Given the description of an element on the screen output the (x, y) to click on. 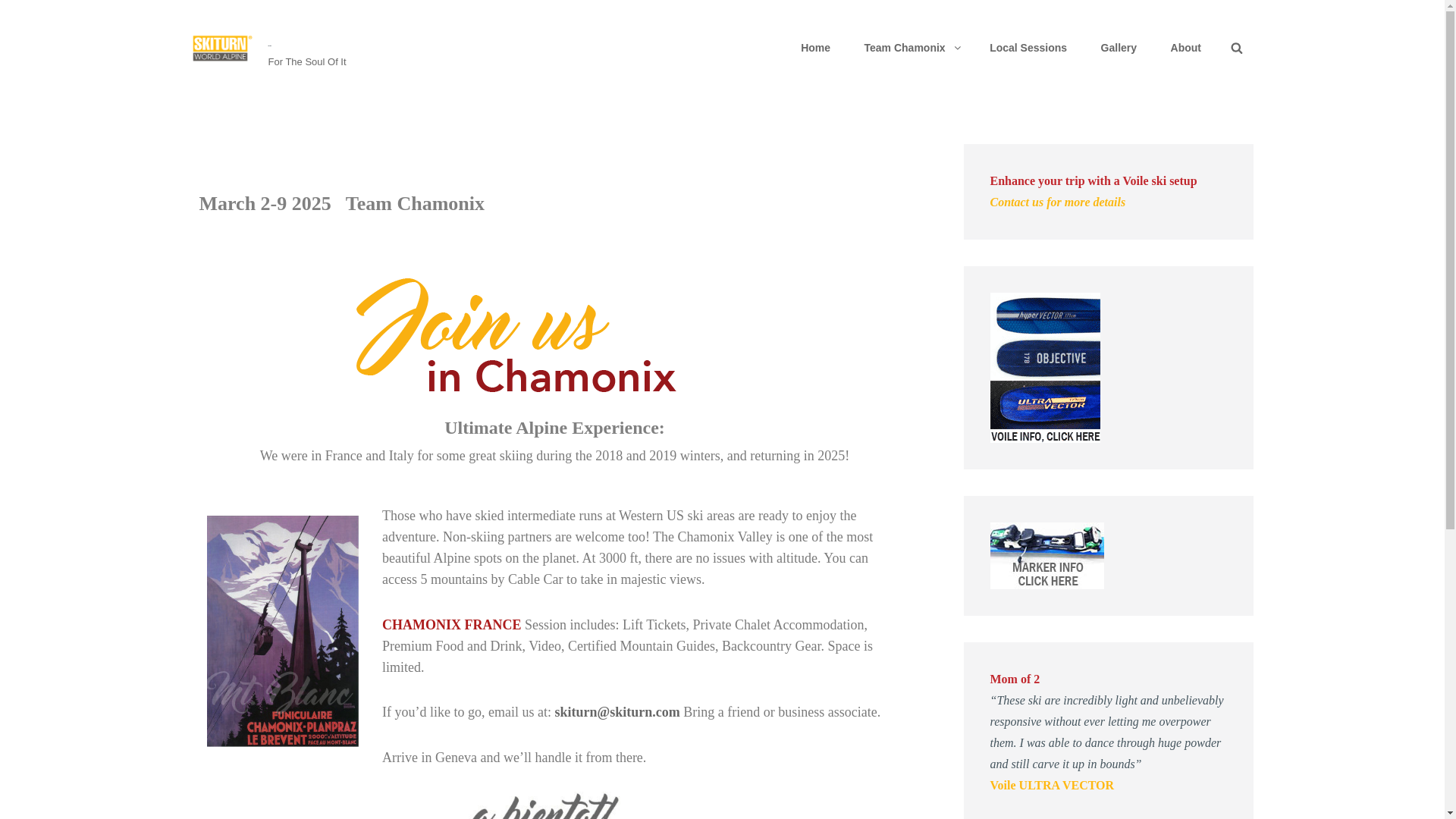
About (1185, 47)
Team Chamonix (909, 47)
Voile Skis (1045, 367)
Home (815, 47)
Local Sessions (1027, 47)
Gallery (1118, 47)
